Given the description of an element on the screen output the (x, y) to click on. 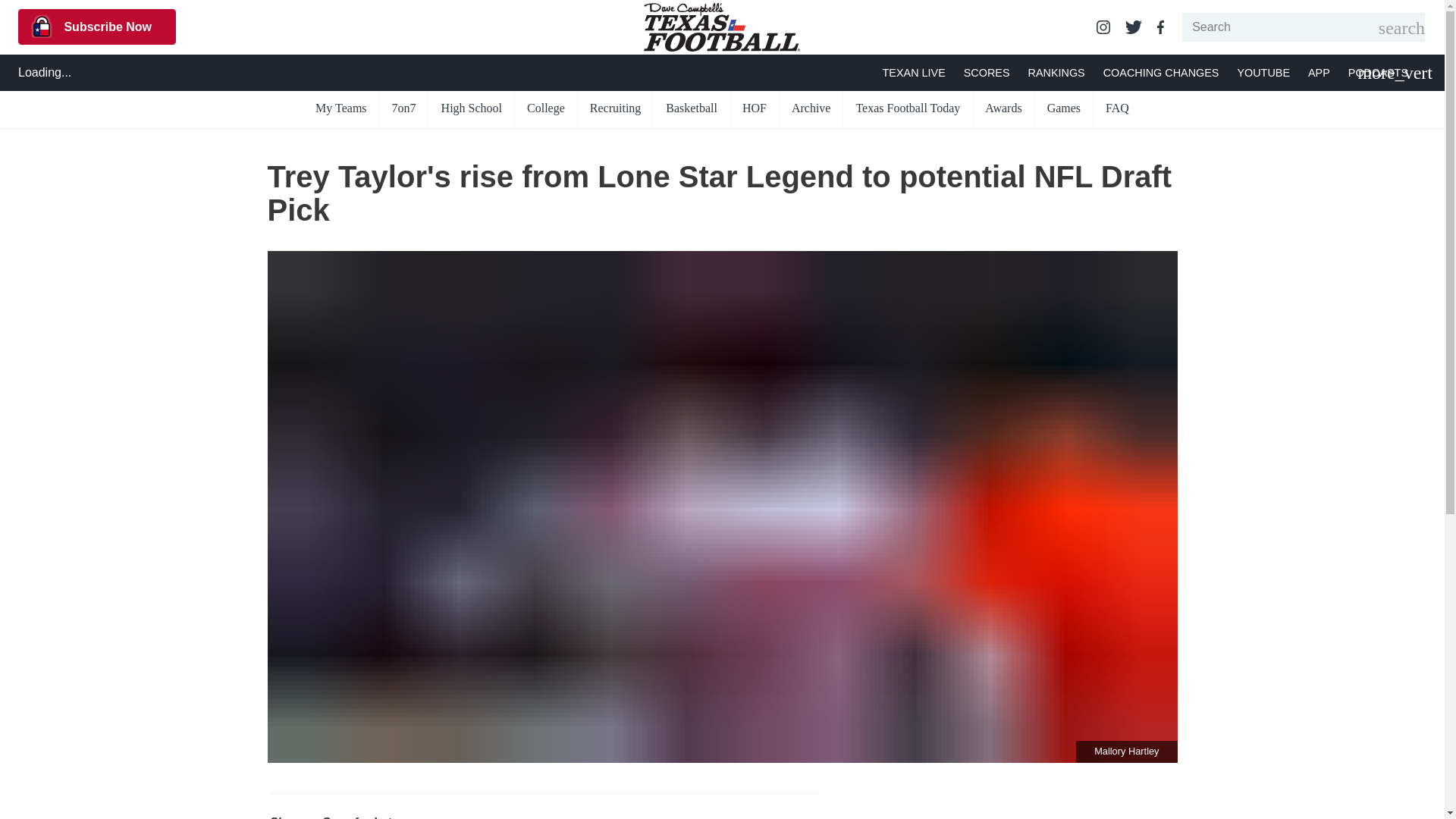
COACHING CHANGES (1161, 72)
SCORES (986, 72)
Subscribe Now (96, 27)
YOUTUBE (1263, 72)
RANKINGS (1055, 72)
TEXAN LIVE (913, 72)
PODCASTS (1377, 72)
